Given the description of an element on the screen output the (x, y) to click on. 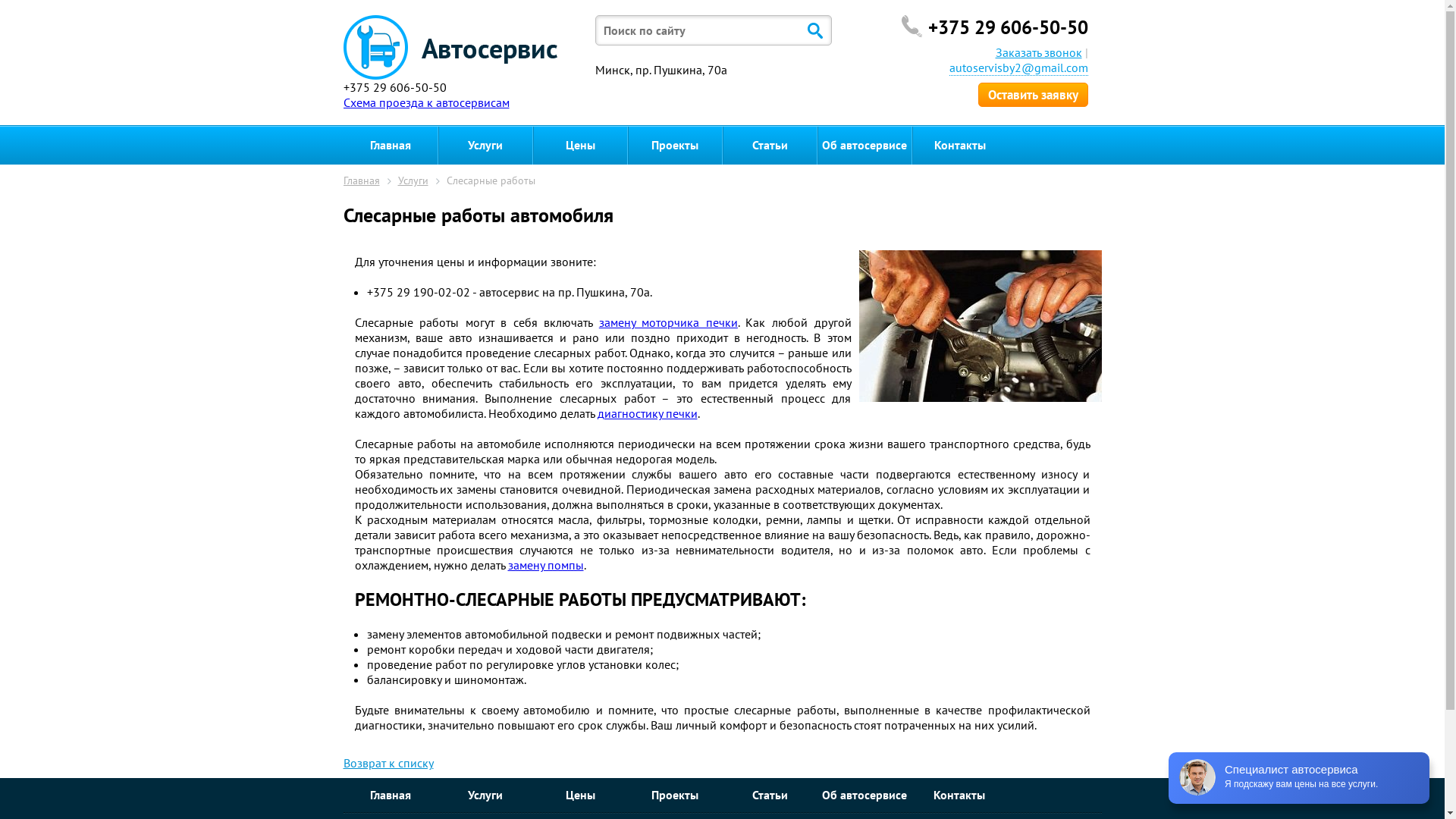
autoservisby2@gmail.com Element type: text (1018, 67)
